Given the description of an element on the screen output the (x, y) to click on. 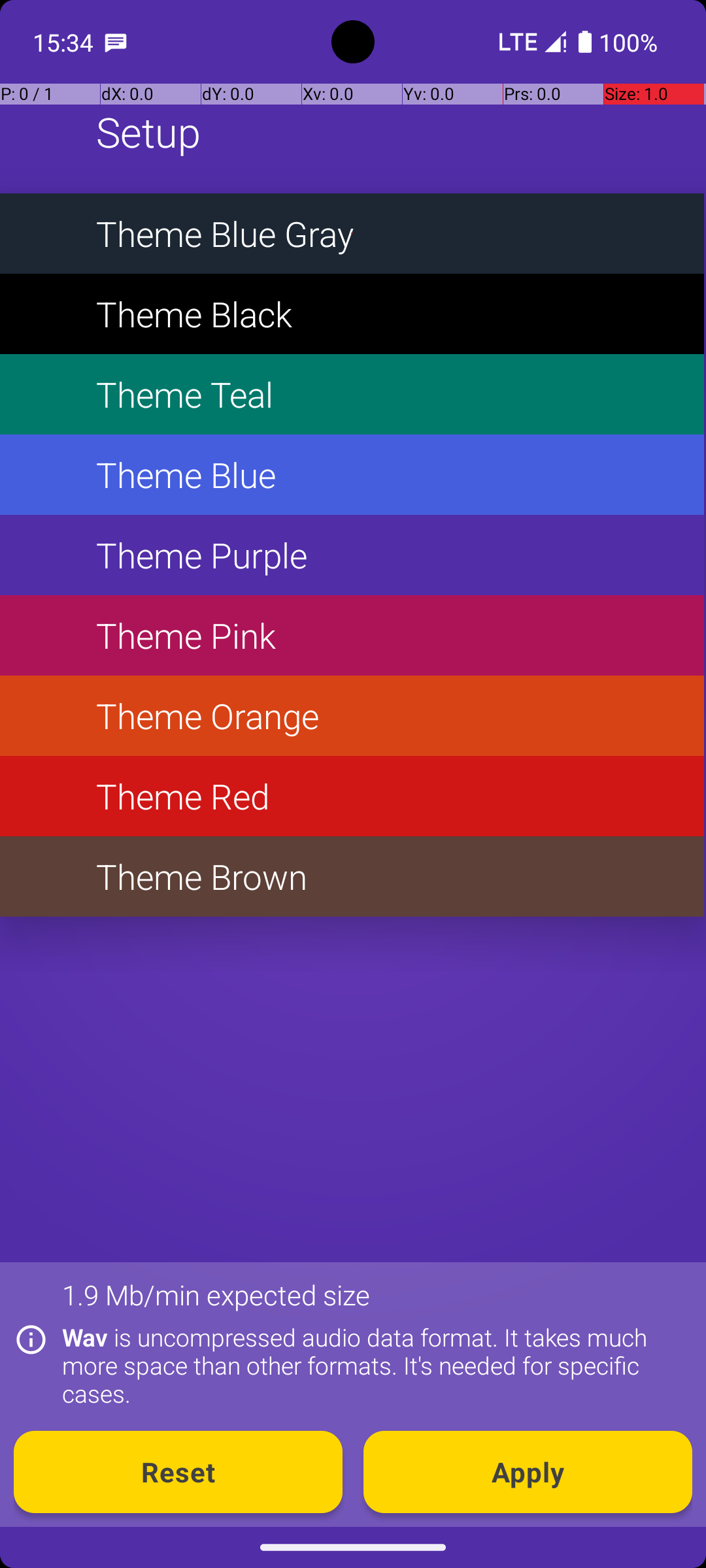
Theme Black Element type: android.widget.TextView (352, 313)
Theme Blue Element type: android.widget.TextView (352, 474)
Theme Pink Element type: android.widget.TextView (352, 635)
Theme Orange Element type: android.widget.TextView (352, 715)
Theme Red Element type: android.widget.TextView (352, 795)
Theme Brown Element type: android.widget.TextView (352, 876)
